Given the description of an element on the screen output the (x, y) to click on. 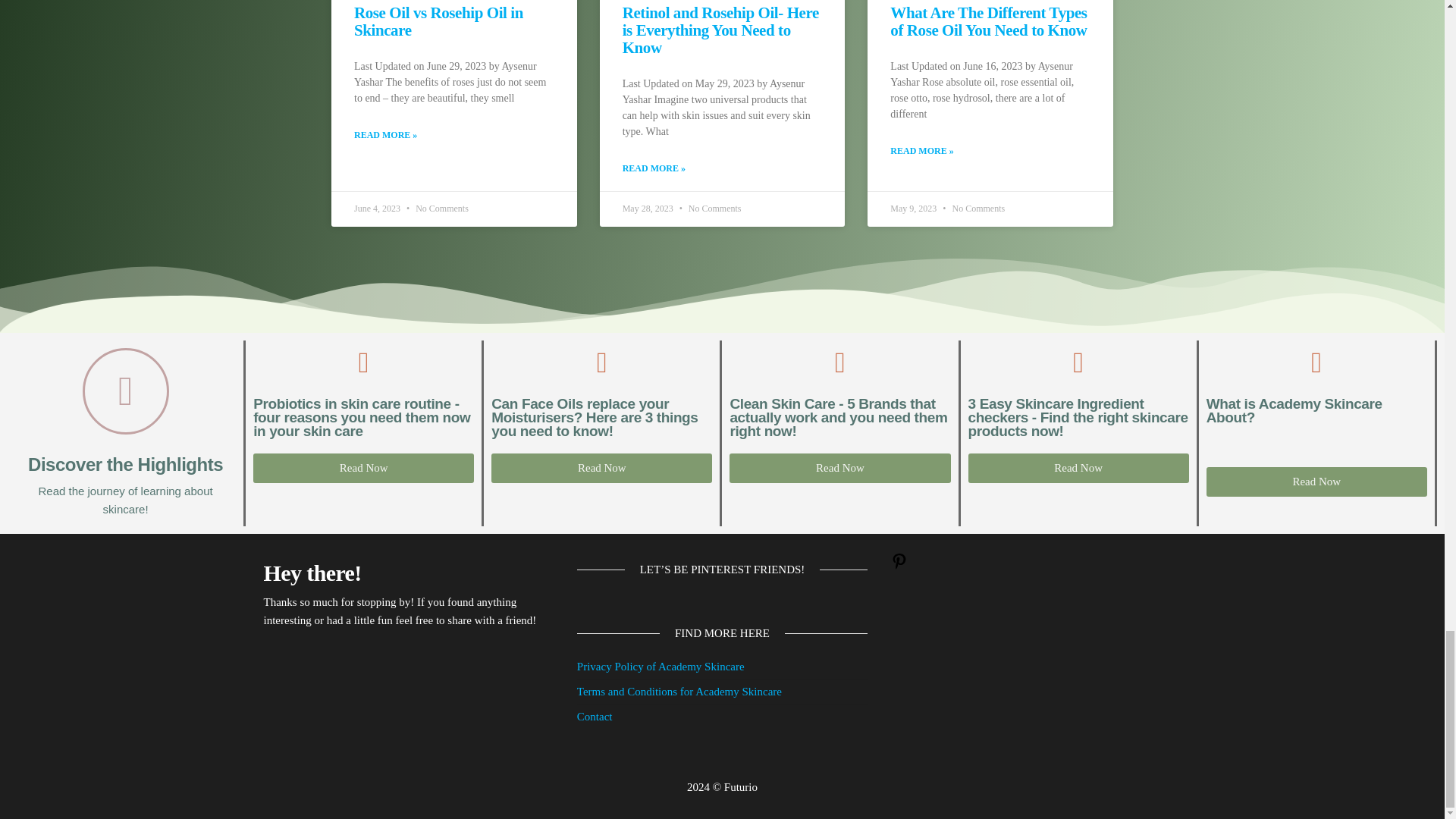
Rose Oil vs Rosehip Oil in Skincare (437, 21)
Read Now (363, 468)
Retinol and Rosehip Oil- Here is Everything You Need to Know (720, 30)
What Are The Different Types of Rose Oil You Need to Know (987, 21)
